Given the description of an element on the screen output the (x, y) to click on. 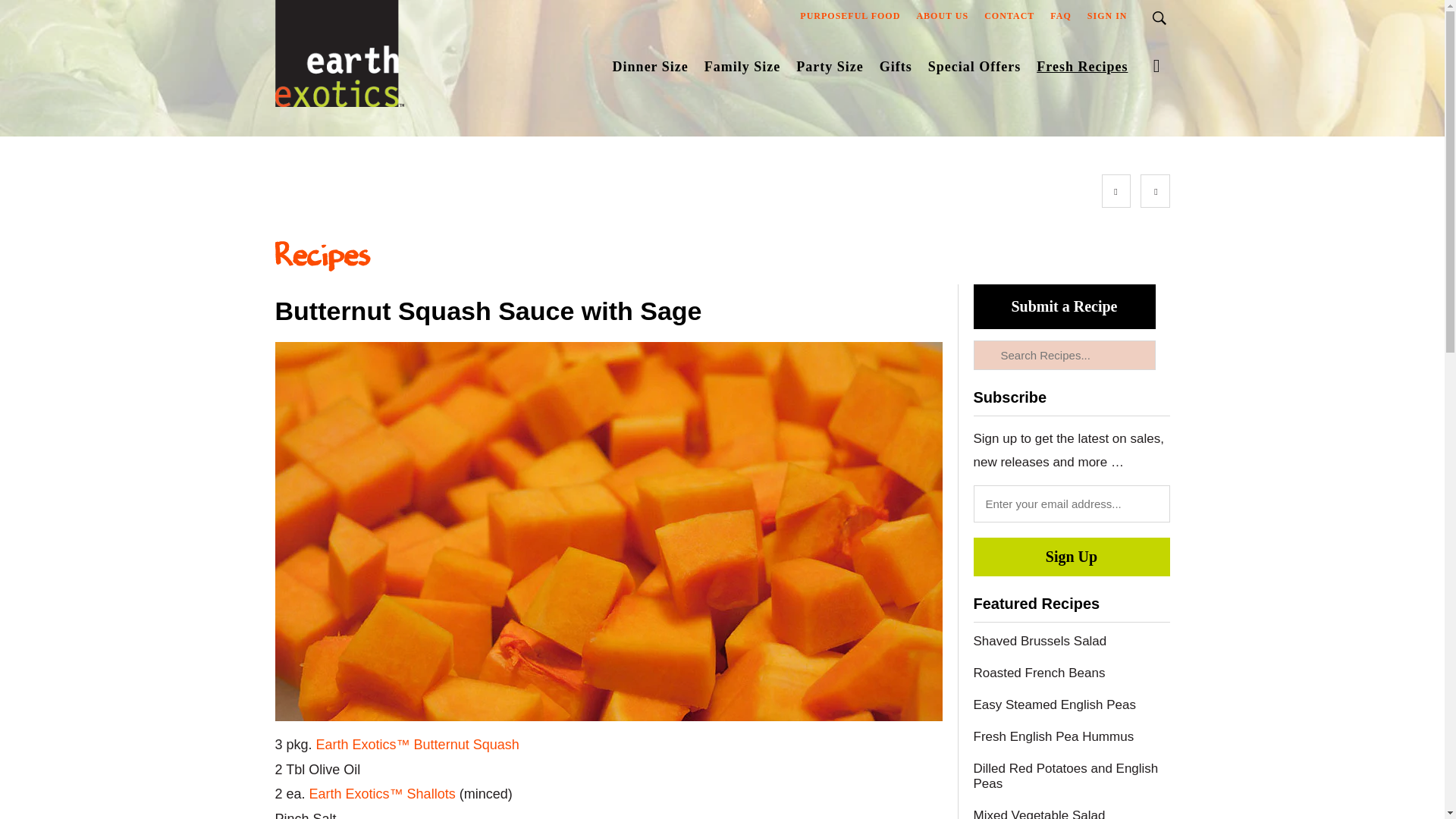
About Us (941, 19)
Fresh Recipes (1081, 70)
PURPOSEFUL FOOD (849, 19)
Purposeful Food (849, 19)
FAQ (1059, 19)
Dinner Size (650, 70)
Sign Up (1072, 556)
Special Offers (974, 70)
Gifts (895, 70)
Family Size (742, 70)
